Given the description of an element on the screen output the (x, y) to click on. 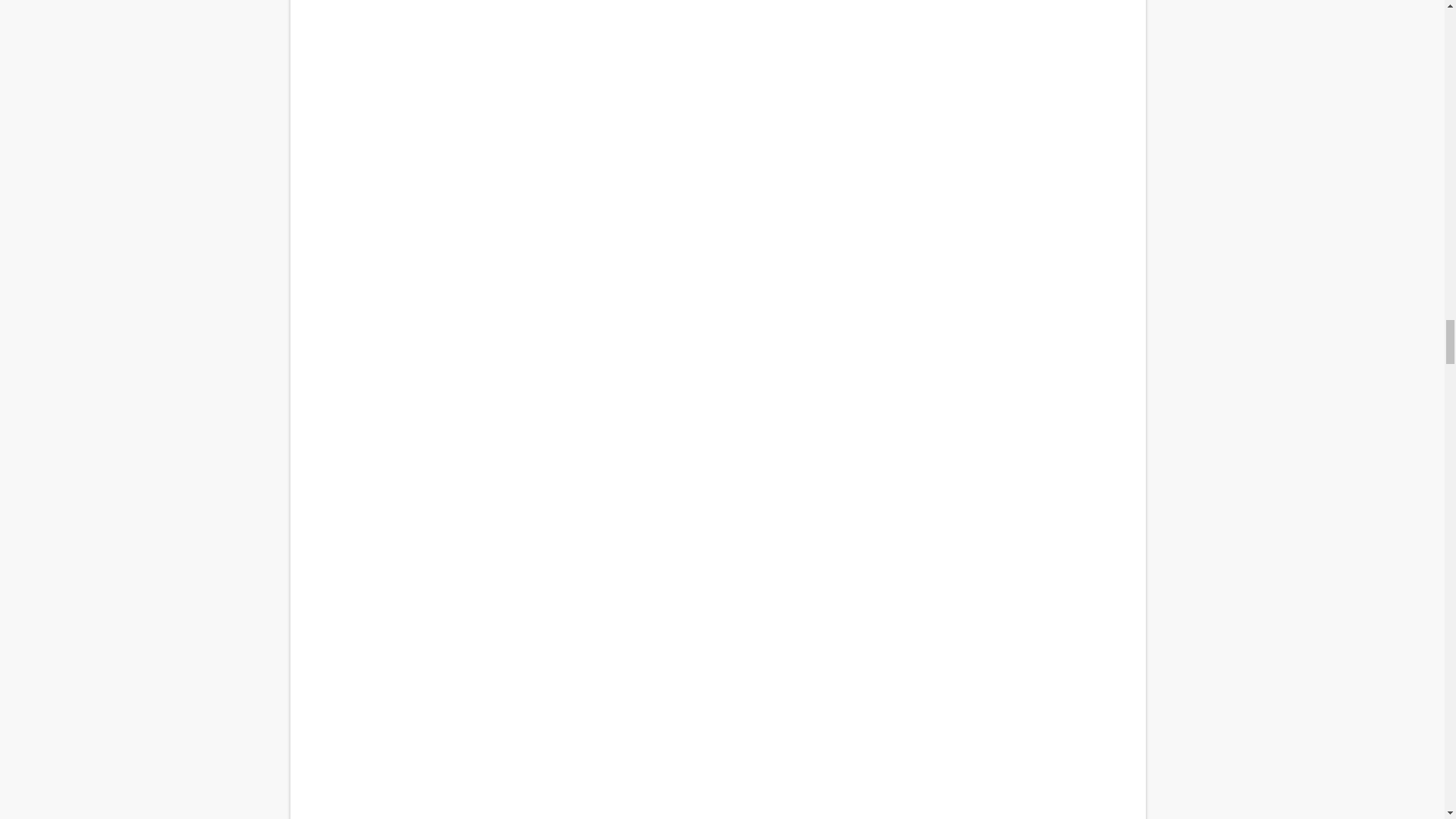
Fill in the blanks (717, 690)
